Given the description of an element on the screen output the (x, y) to click on. 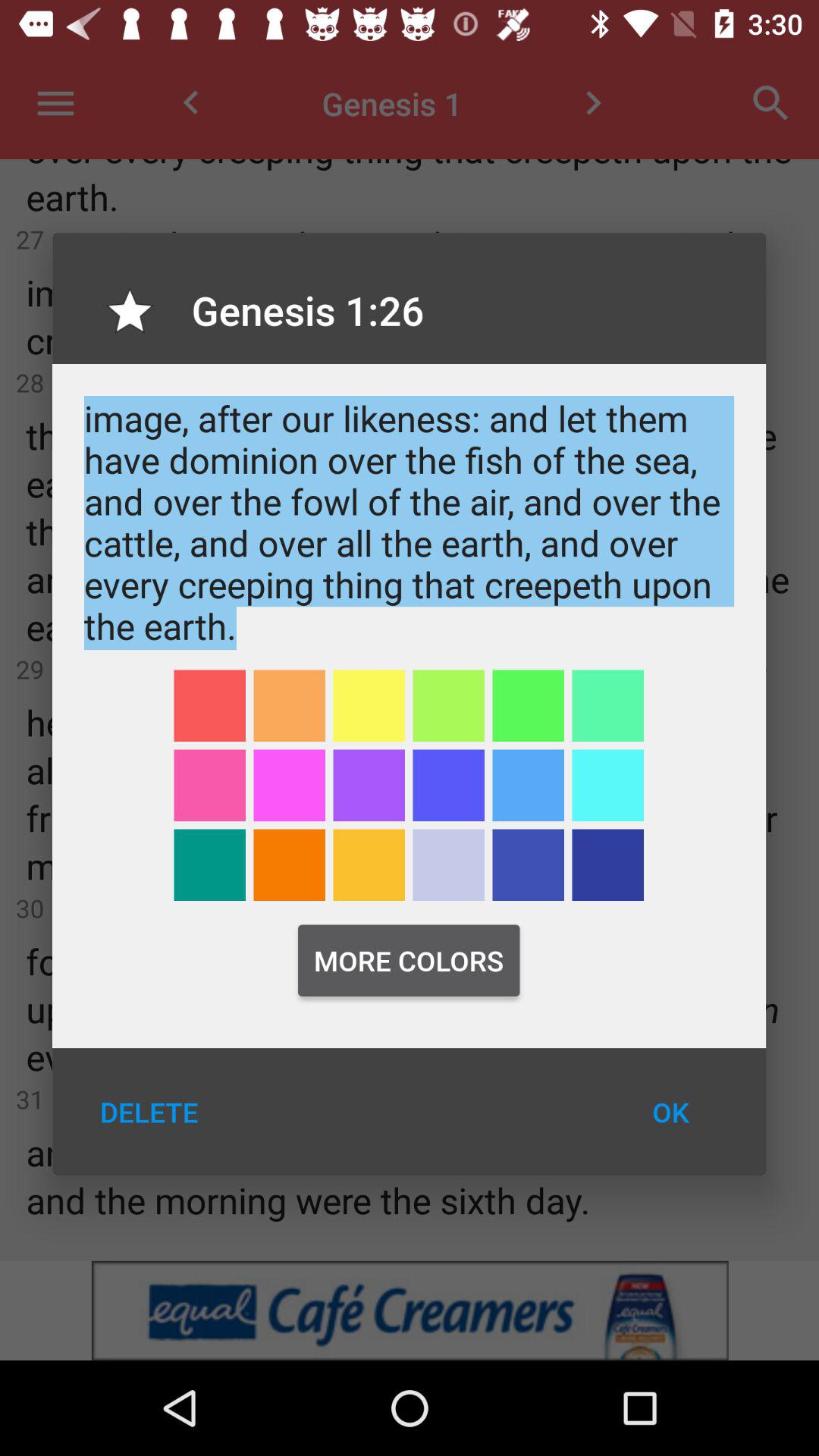
light green (448, 705)
